Given the description of an element on the screen output the (x, y) to click on. 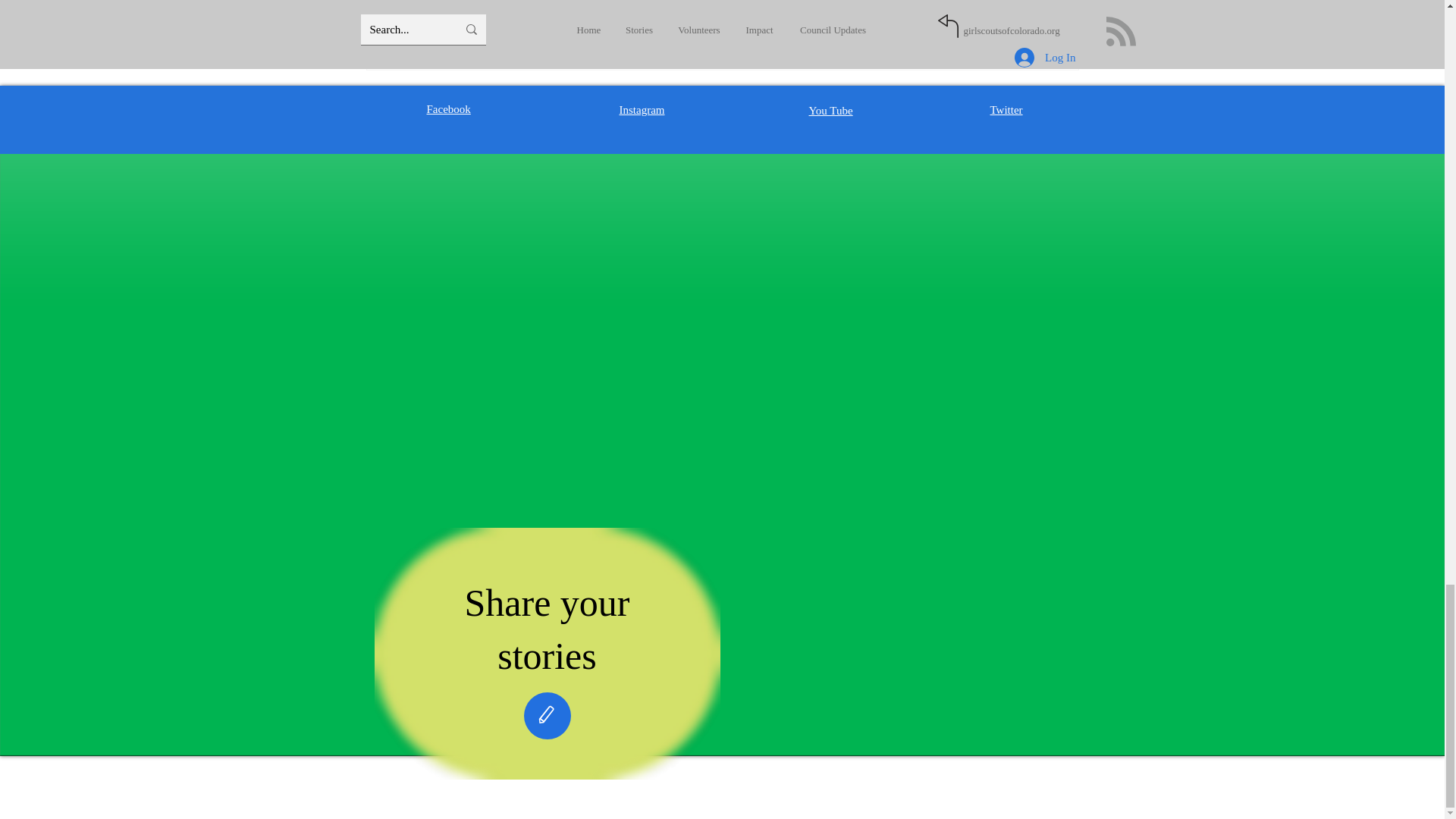
Facebook (448, 109)
Post not marked as liked (995, 16)
Instagram (640, 110)
You Tube (829, 110)
Twitter (1006, 110)
